Given the description of an element on the screen output the (x, y) to click on. 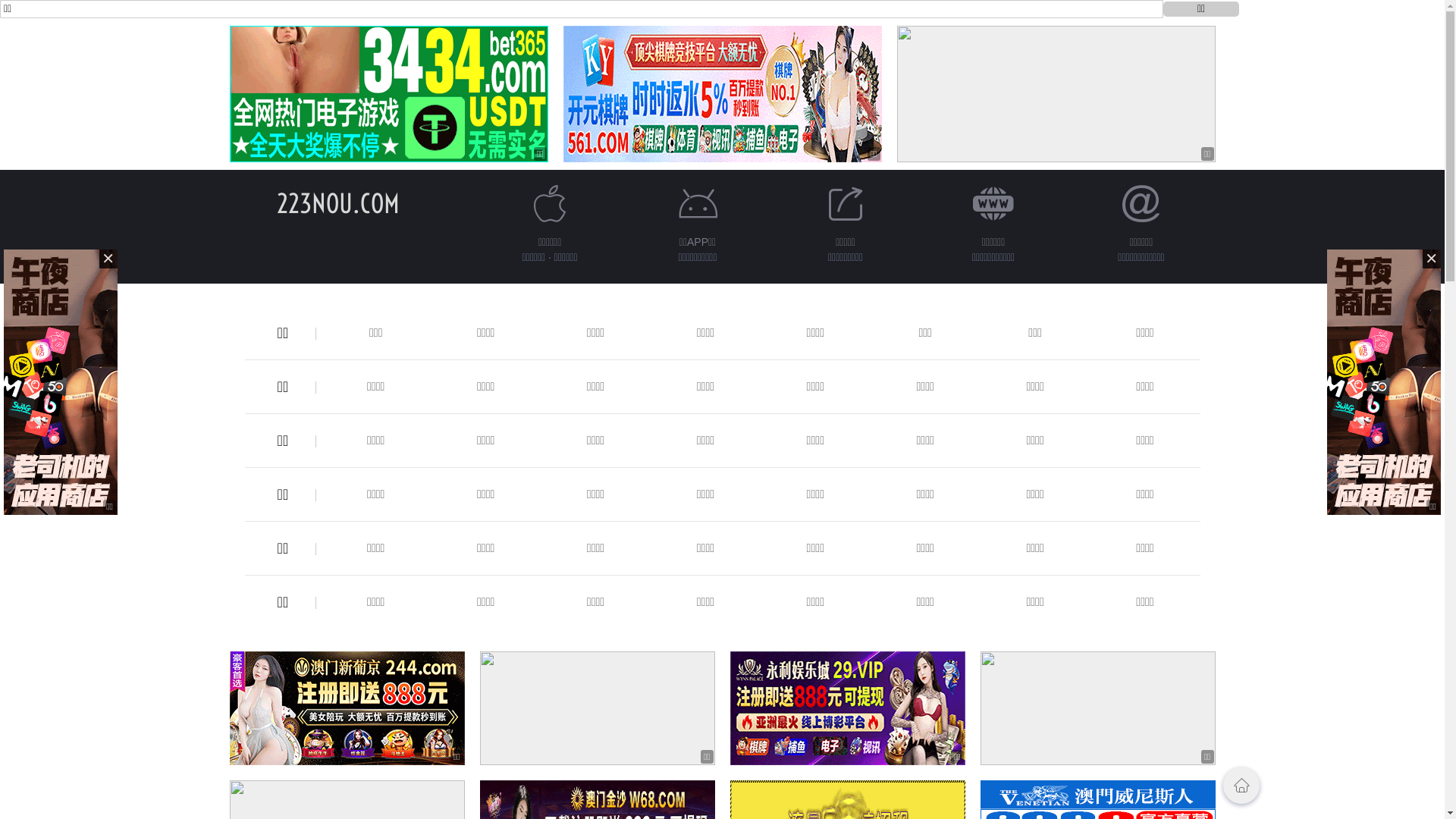
223NOU.COM Element type: text (337, 203)
